Given the description of an element on the screen output the (x, y) to click on. 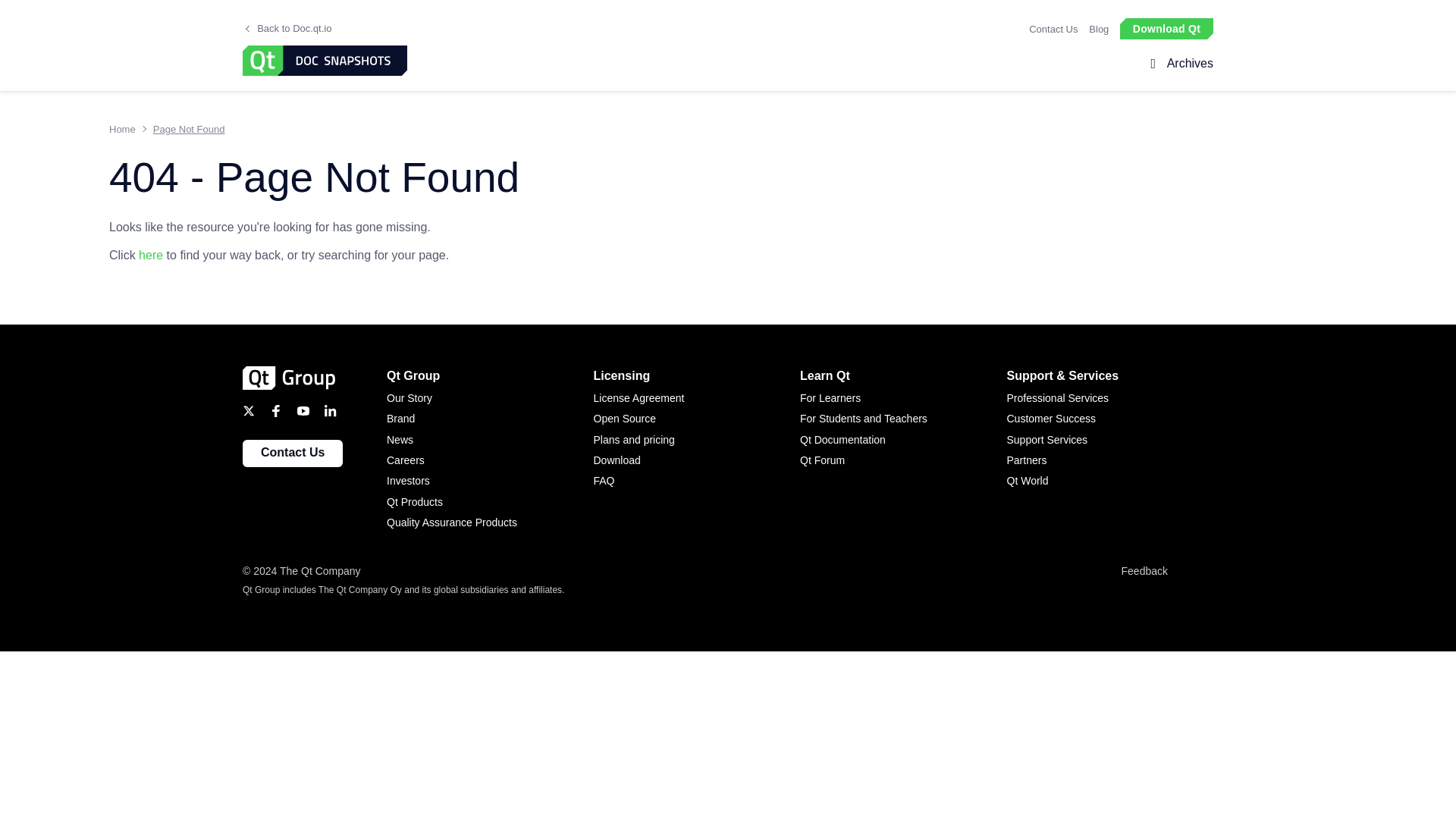
Qt Documentation (903, 439)
License Agreement (695, 397)
Download (695, 460)
Download Qt (1165, 27)
Investors (490, 480)
FAQ (695, 480)
Brand (490, 418)
Partners (1110, 460)
Contact Us (1053, 28)
Support Services (1110, 439)
